Given the description of an element on the screen output the (x, y) to click on. 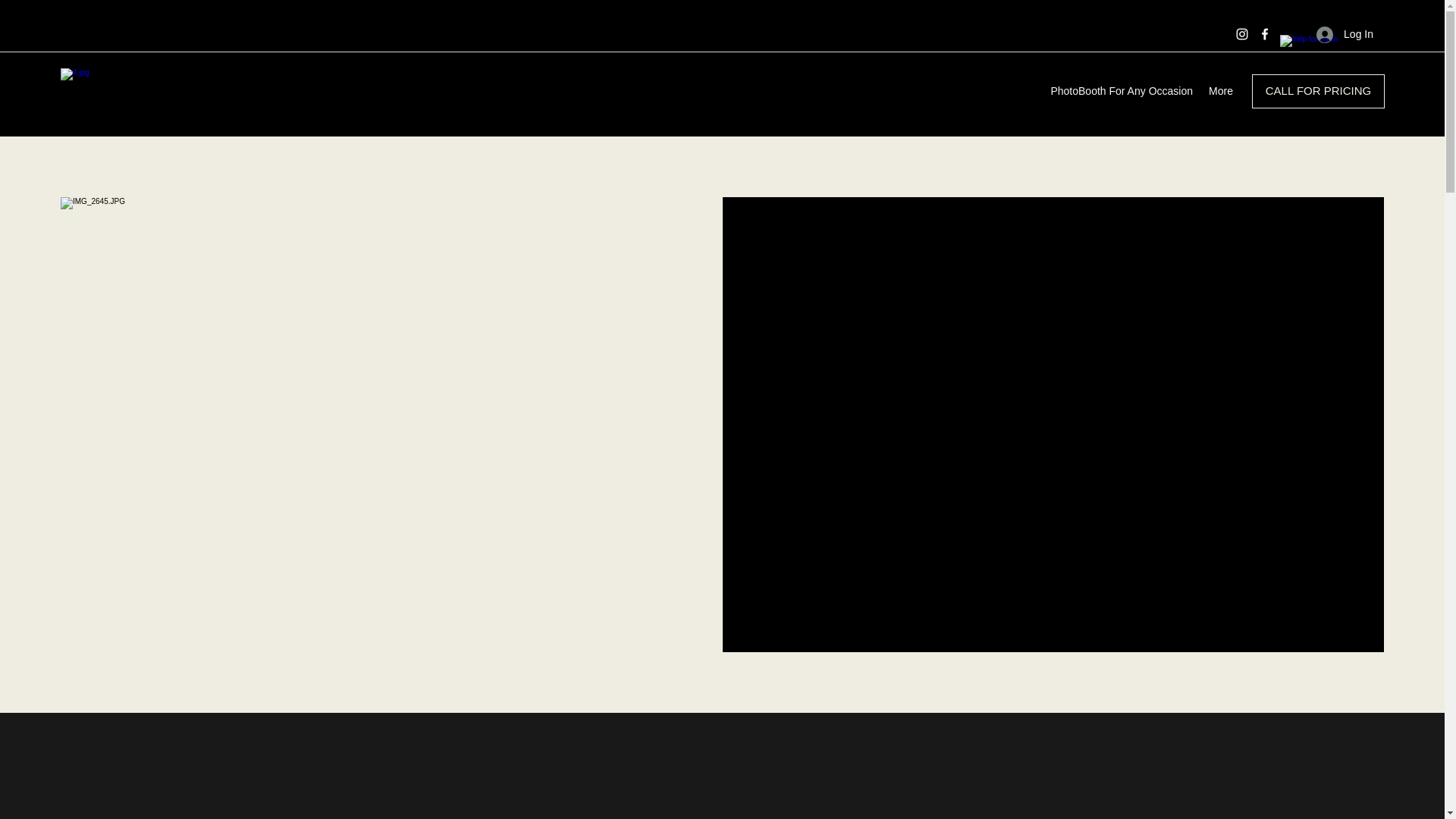
PhotoBooth For Any Occasion (1117, 90)
Log In (1345, 34)
CALL FOR PRICING (1318, 91)
